Given the description of an element on the screen output the (x, y) to click on. 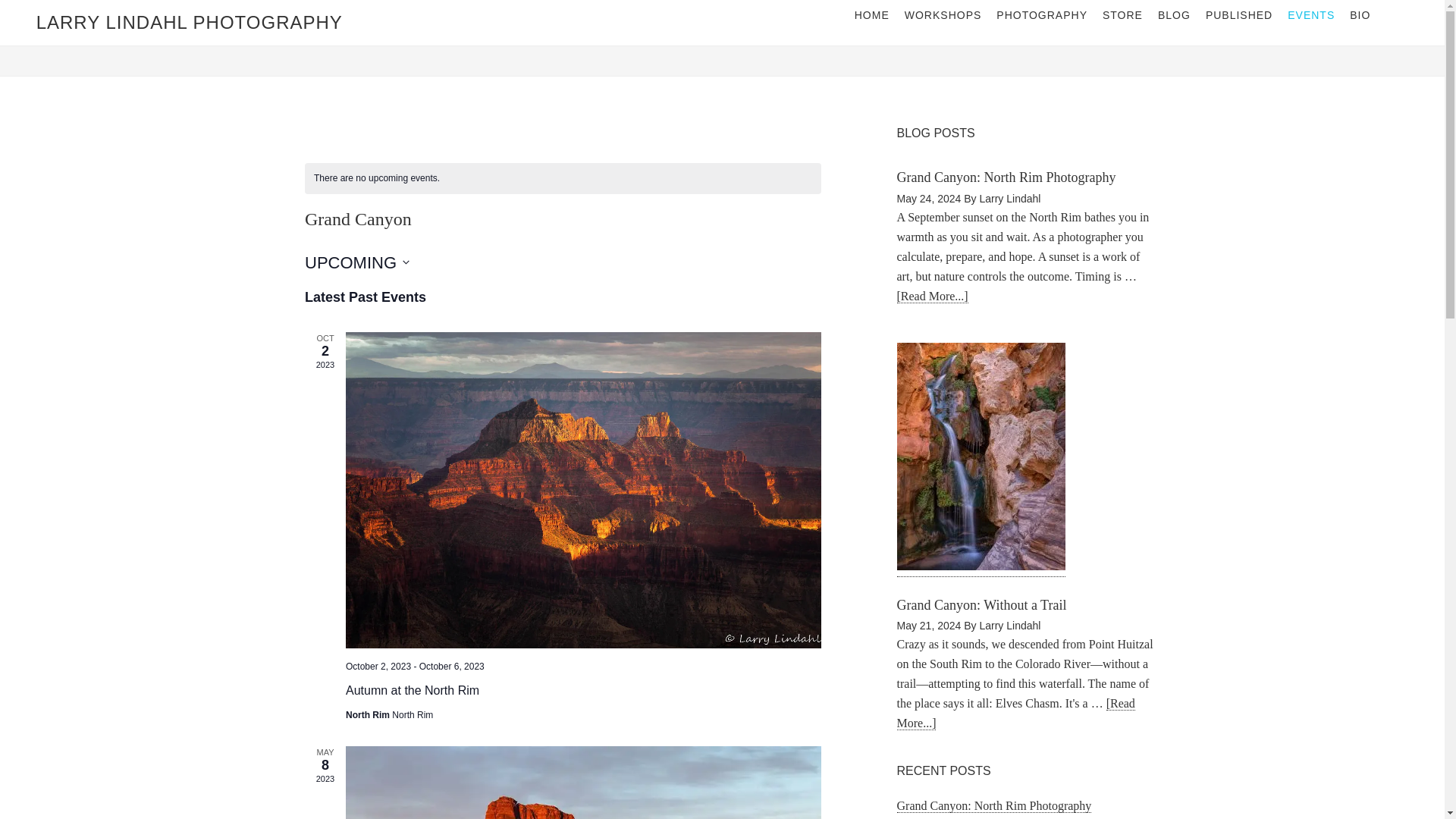
Grand Canyon: North Rim Photography (1005, 177)
LARRY LINDAHL PHOTOGRAPHY (189, 22)
PUBLISHED (1238, 15)
EVENTS (1310, 15)
HOME (871, 15)
PHOTOGRAPHY (1041, 15)
Autumn at the North Rim (412, 690)
Larry Lindahl (1009, 198)
Autumn at the North Rim (412, 690)
STORE (1122, 15)
UPCOMING (356, 262)
Workshop: Spectacular Southwest Photography (583, 782)
BIO (1359, 15)
BLOG (1174, 15)
